Given the description of an element on the screen output the (x, y) to click on. 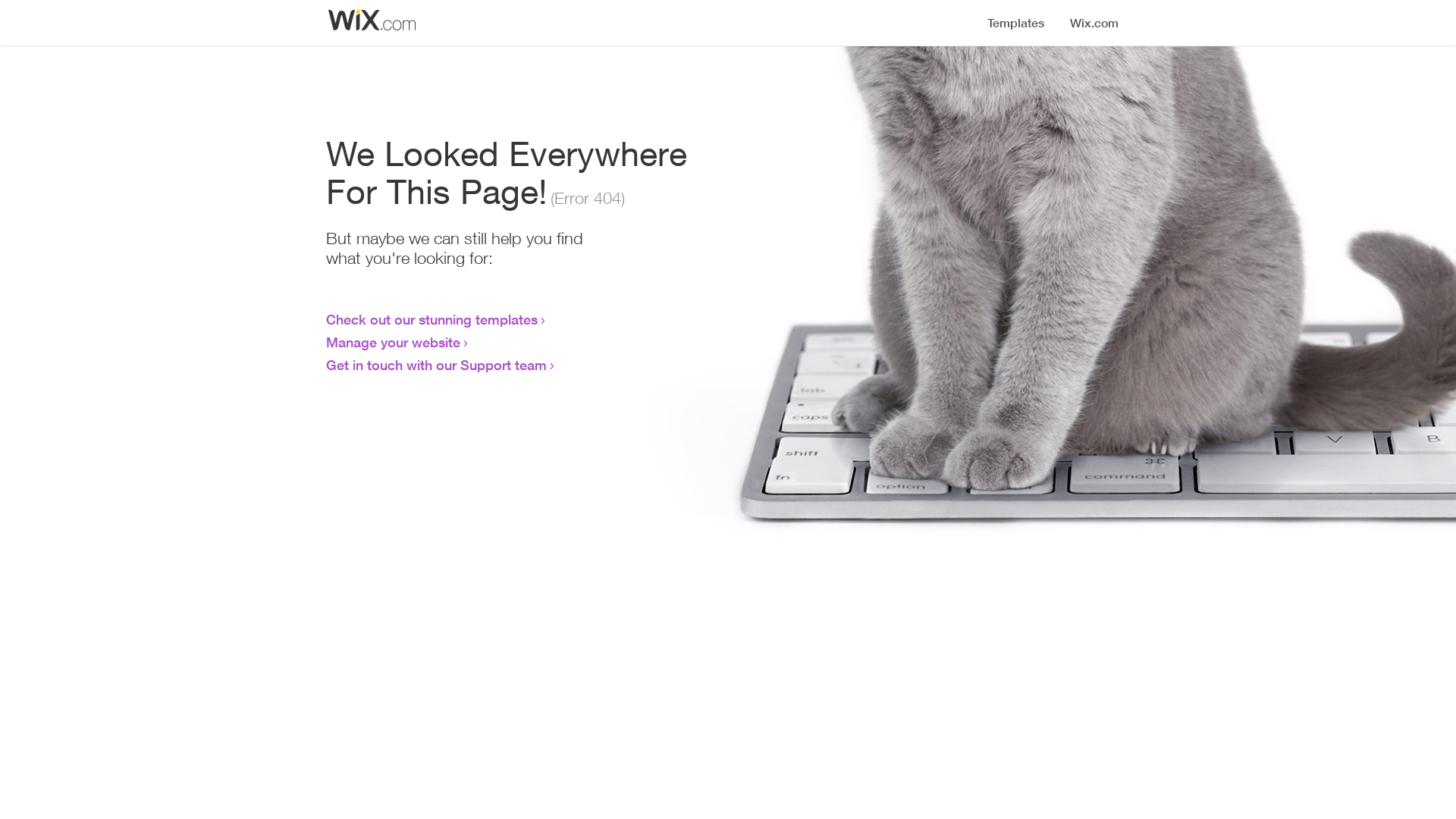
Get in touch with our Support team Element type: text (436, 364)
Manage your website Element type: text (393, 341)
Check out our stunning templates Element type: text (431, 318)
